Given the description of an element on the screen output the (x, y) to click on. 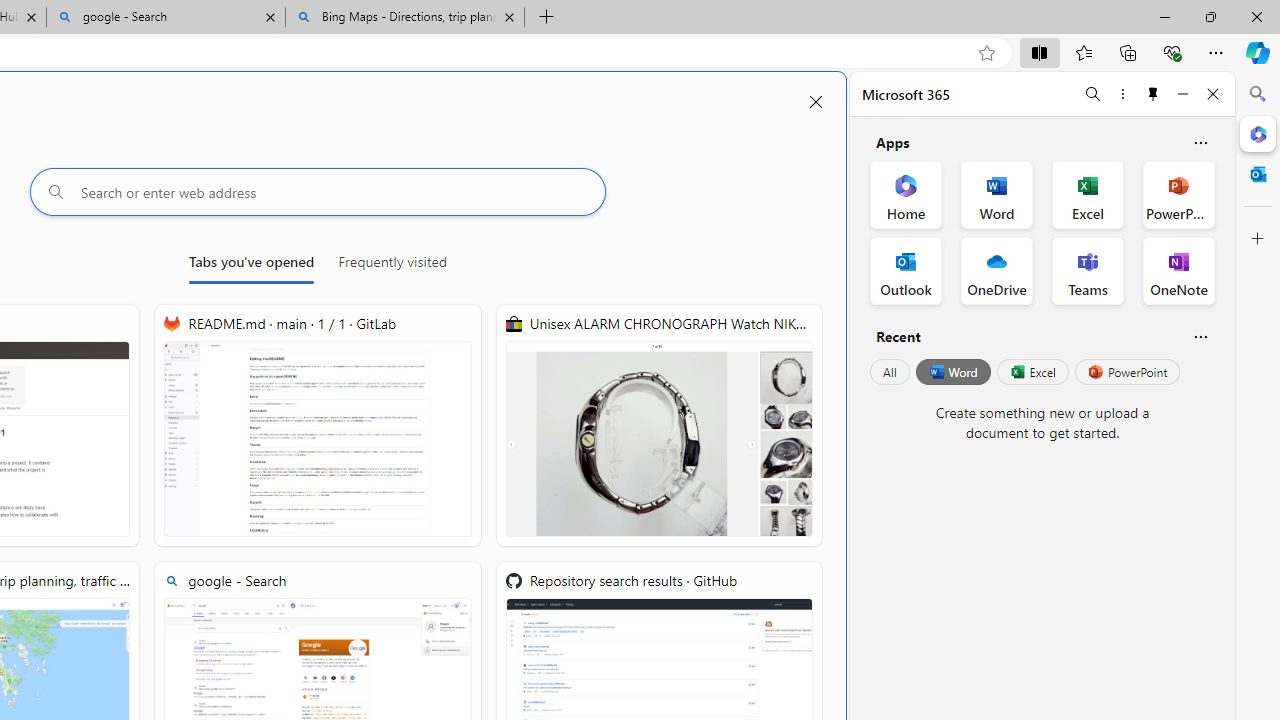
Tabs you've opened (251, 265)
Unpin side pane (1153, 93)
Frequently visited (392, 265)
Search or enter web address (317, 191)
Word (952, 372)
PowerPoint Office App (1178, 194)
